Given the description of an element on the screen output the (x, y) to click on. 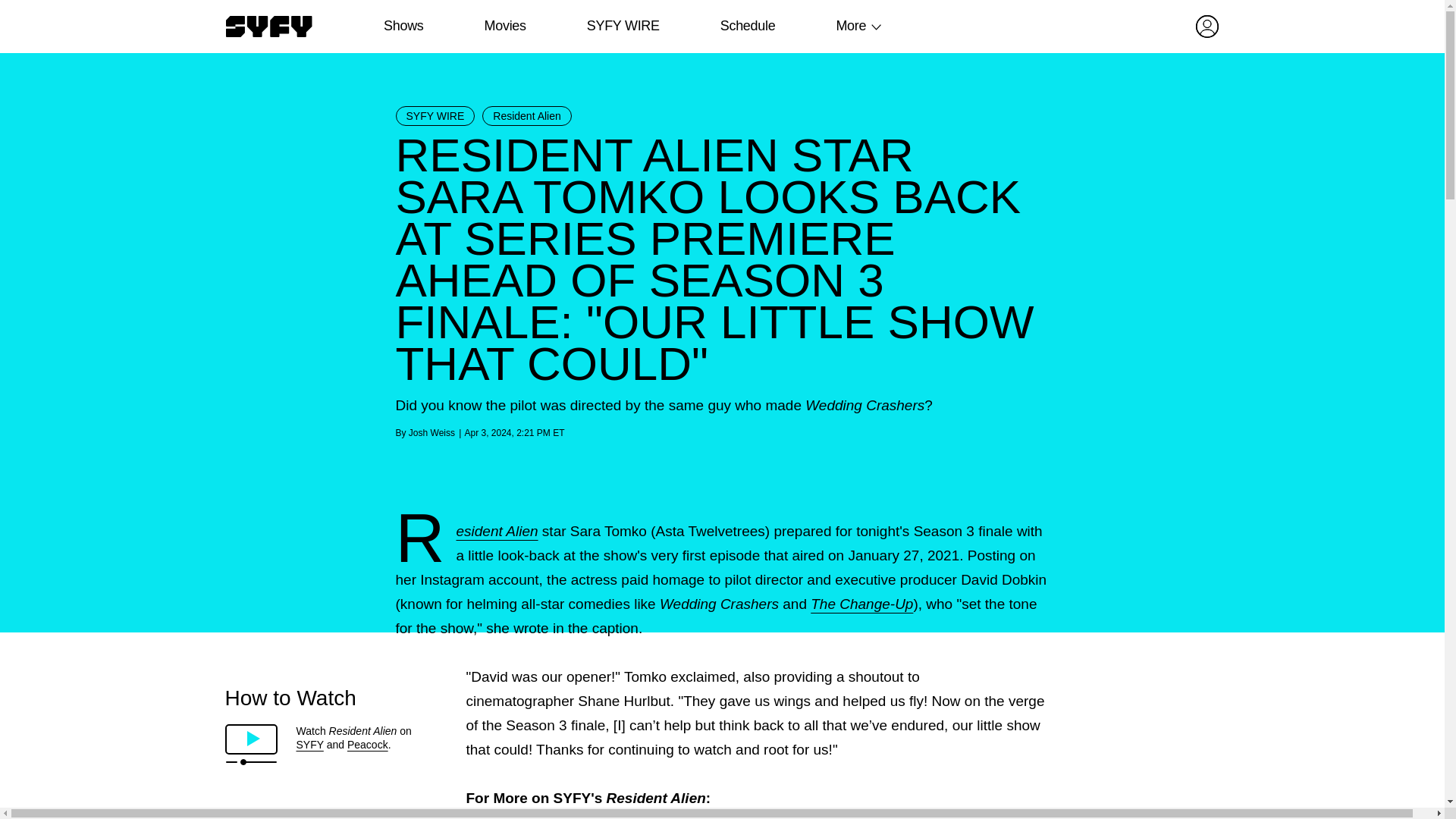
Resident Alien (497, 530)
SYFY (309, 744)
Josh Weiss (431, 432)
Resident Alien (526, 116)
The Change-Up (861, 603)
Shows (403, 26)
Schedule (746, 26)
Peacock (367, 744)
SYFY WIRE (622, 26)
Movies (504, 26)
More (850, 26)
SYFY WIRE (436, 116)
